Given the description of an element on the screen output the (x, y) to click on. 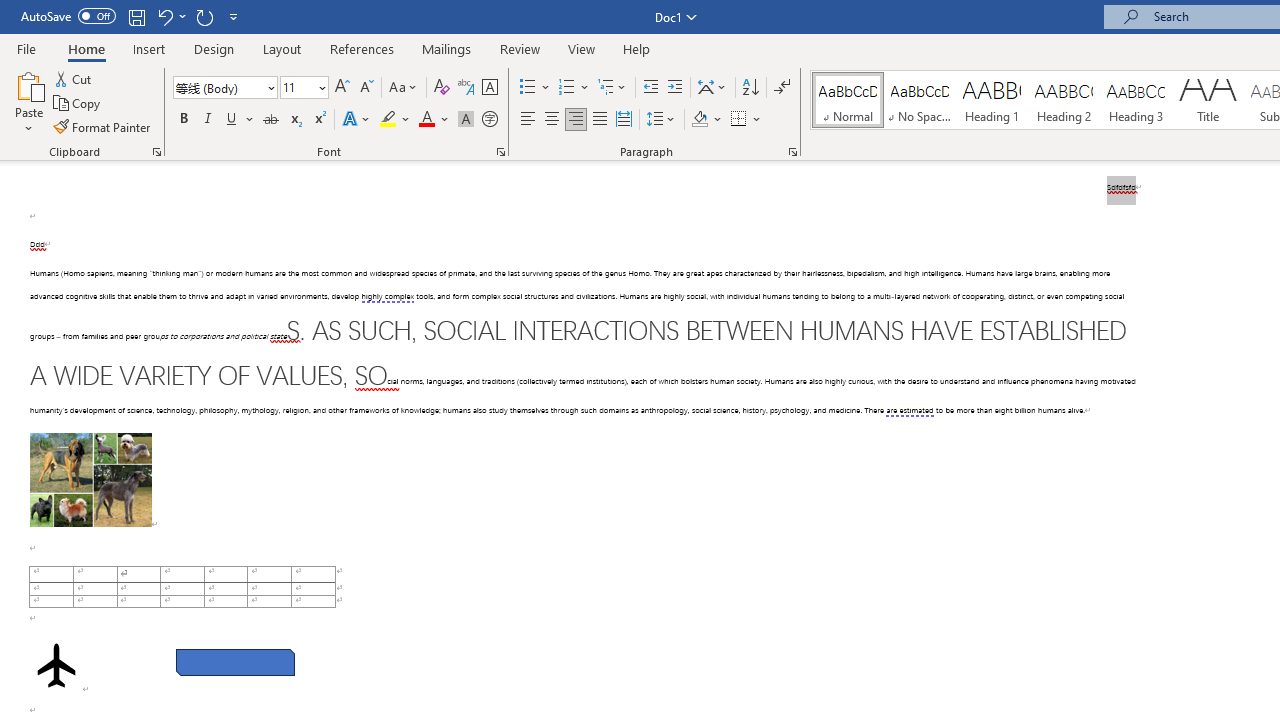
Font Color Red (426, 119)
Heading 1 (991, 100)
